Given the description of an element on the screen output the (x, y) to click on. 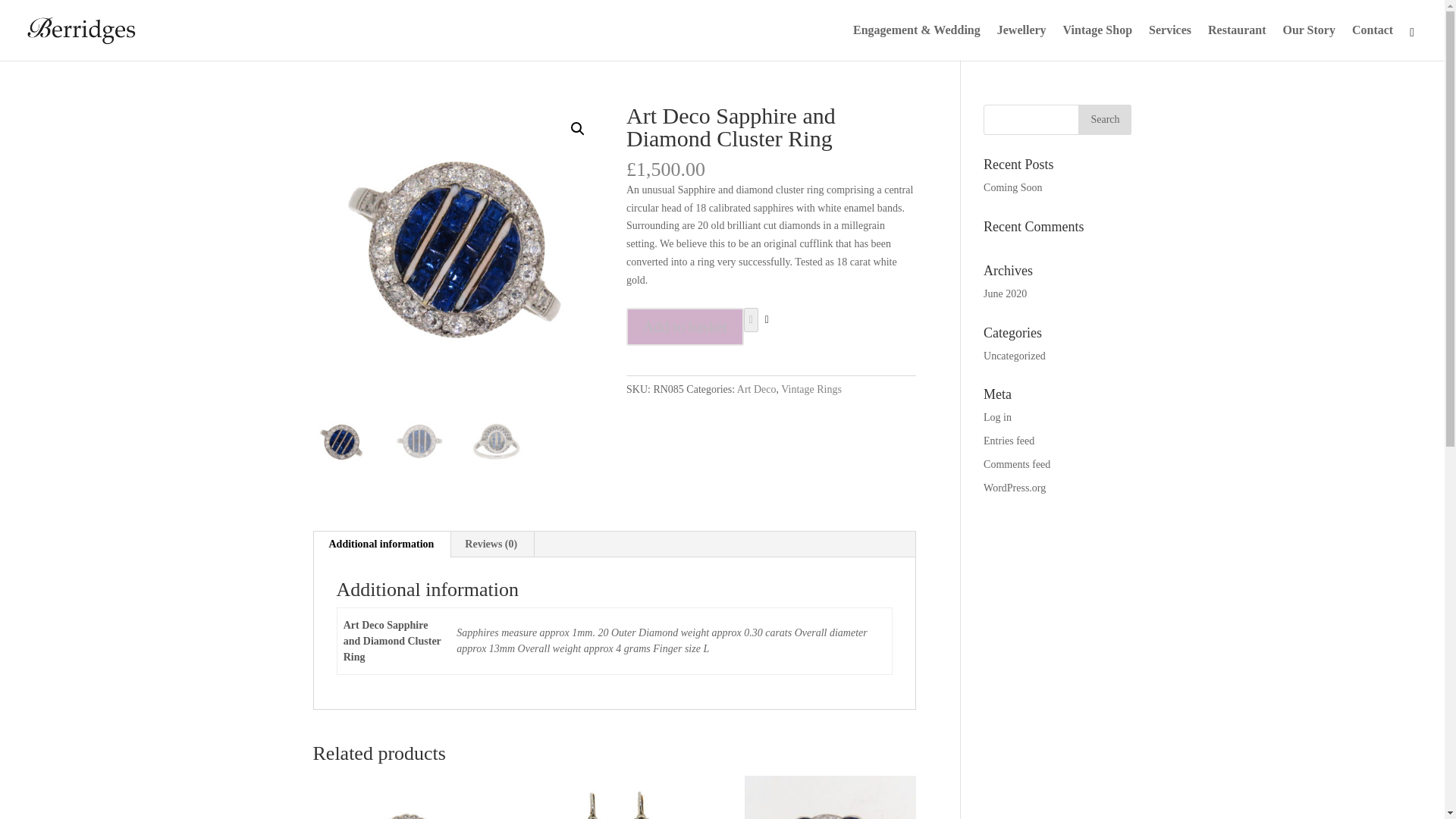
Add to basket (685, 326)
Additional information (382, 544)
Art Deco (756, 389)
RN085A.jpg (457, 248)
June 2020 (1005, 293)
Services (1169, 42)
Jewellery (1021, 42)
Vintage Shop (1097, 42)
Coming Soon (1013, 187)
Restaurant (1236, 42)
Vintage Rings (810, 389)
Search (1104, 119)
Search (1104, 119)
Contact (1372, 42)
Our Story (1308, 42)
